Given the description of an element on the screen output the (x, y) to click on. 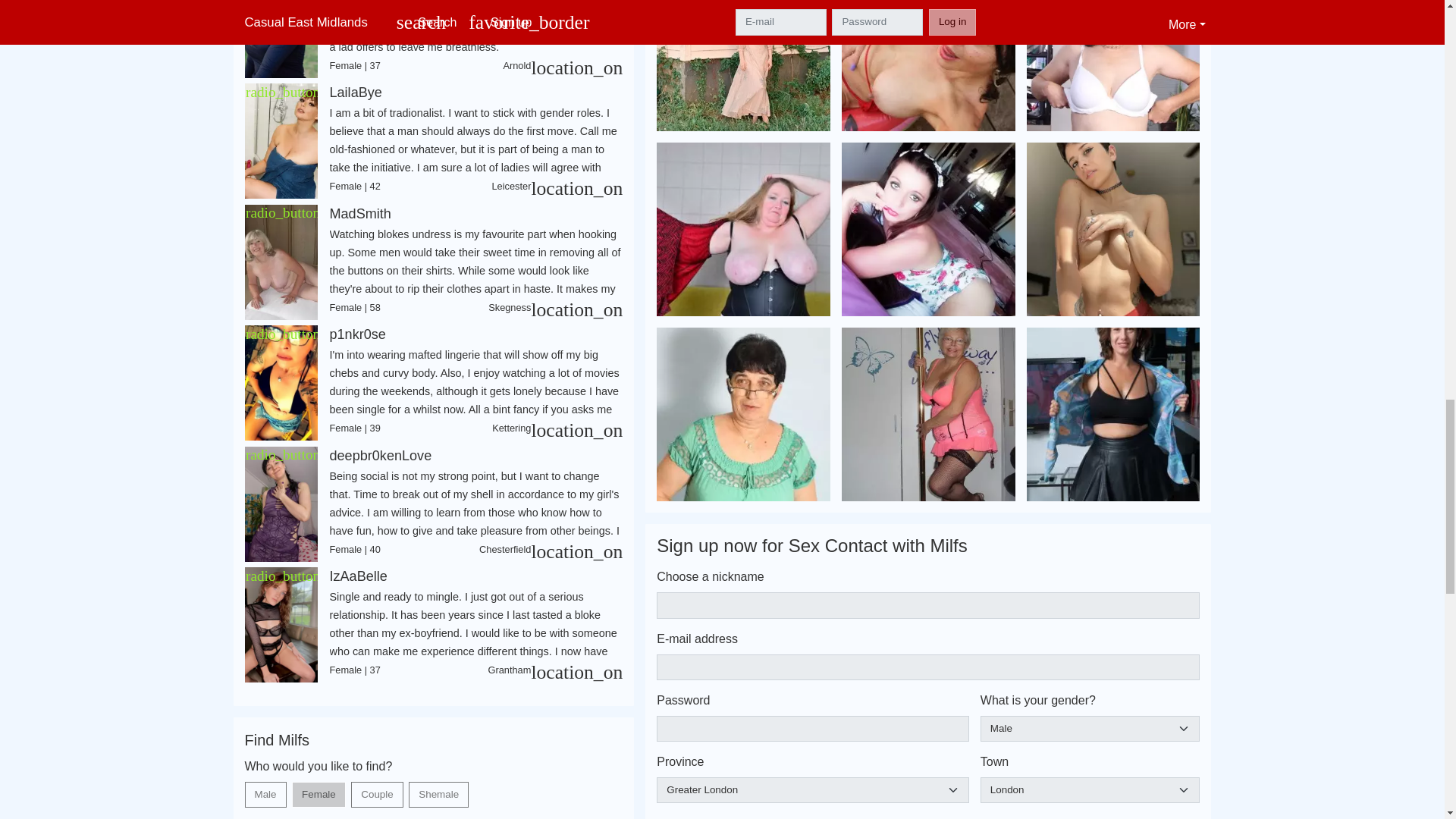
shemale (414, 786)
male (248, 786)
couple (355, 786)
female (296, 786)
